Given the description of an element on the screen output the (x, y) to click on. 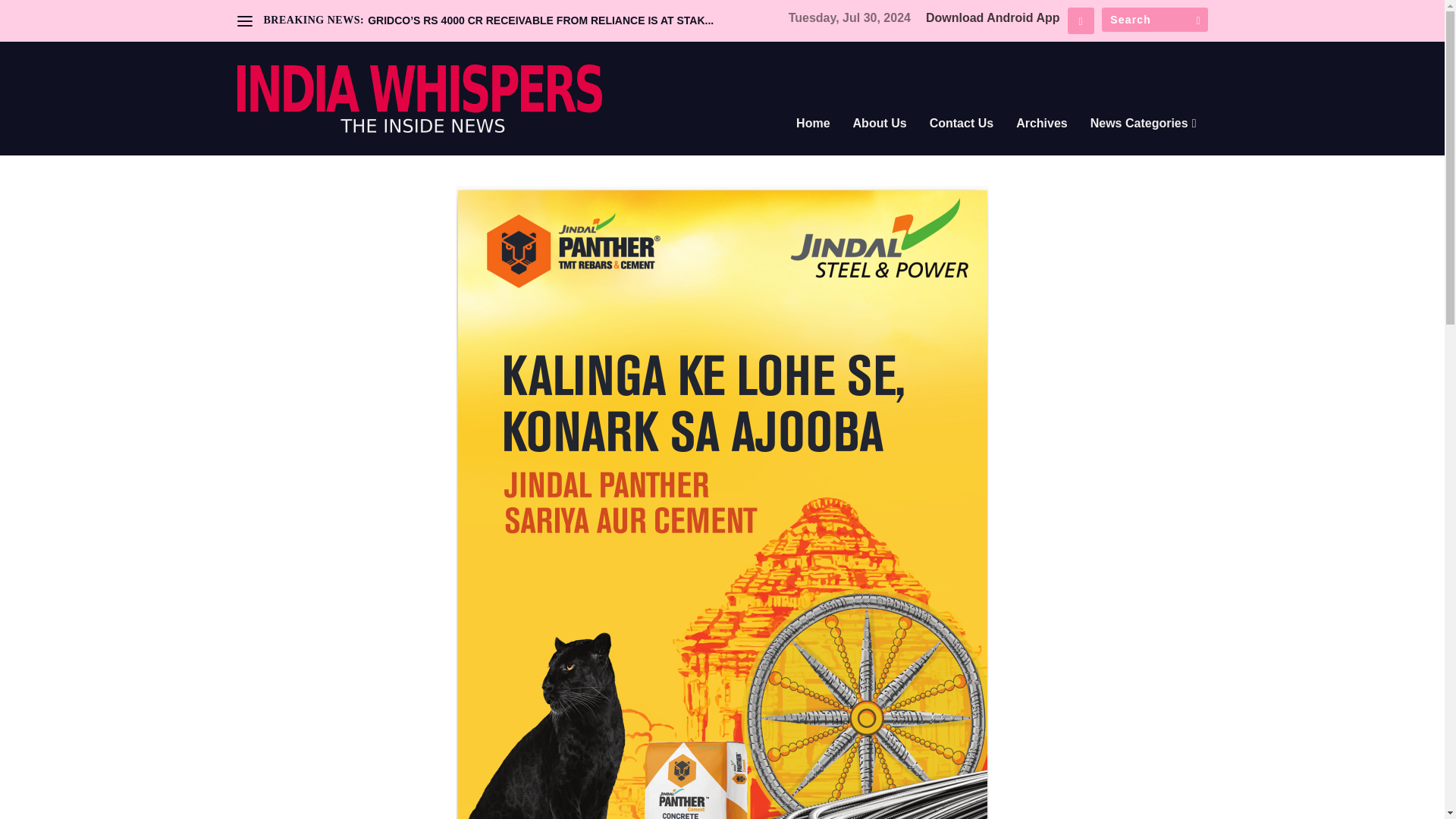
Download Android App (992, 17)
Contact Us (961, 143)
Search for: (1153, 19)
About Us (880, 143)
News Categories (1143, 143)
Archives (1041, 143)
